Given the description of an element on the screen output the (x, y) to click on. 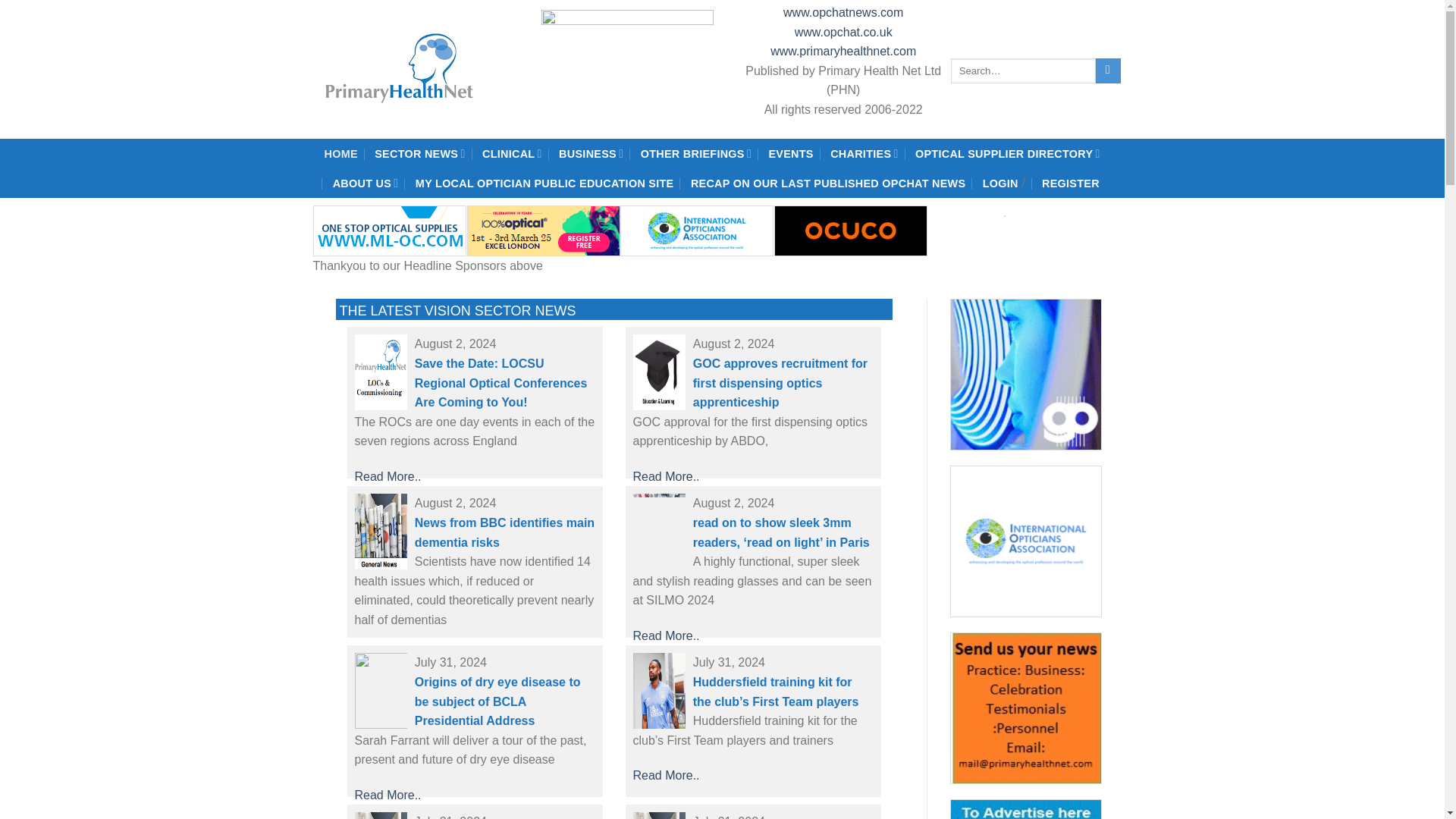
www.opchatnews.com (842, 11)
www.primaryhealthnet.com (842, 51)
HOME (341, 153)
Search (1108, 71)
www.opchat.co.uk (843, 31)
SECTOR NEWS (419, 153)
CLINICAL (511, 153)
